Given the description of an element on the screen output the (x, y) to click on. 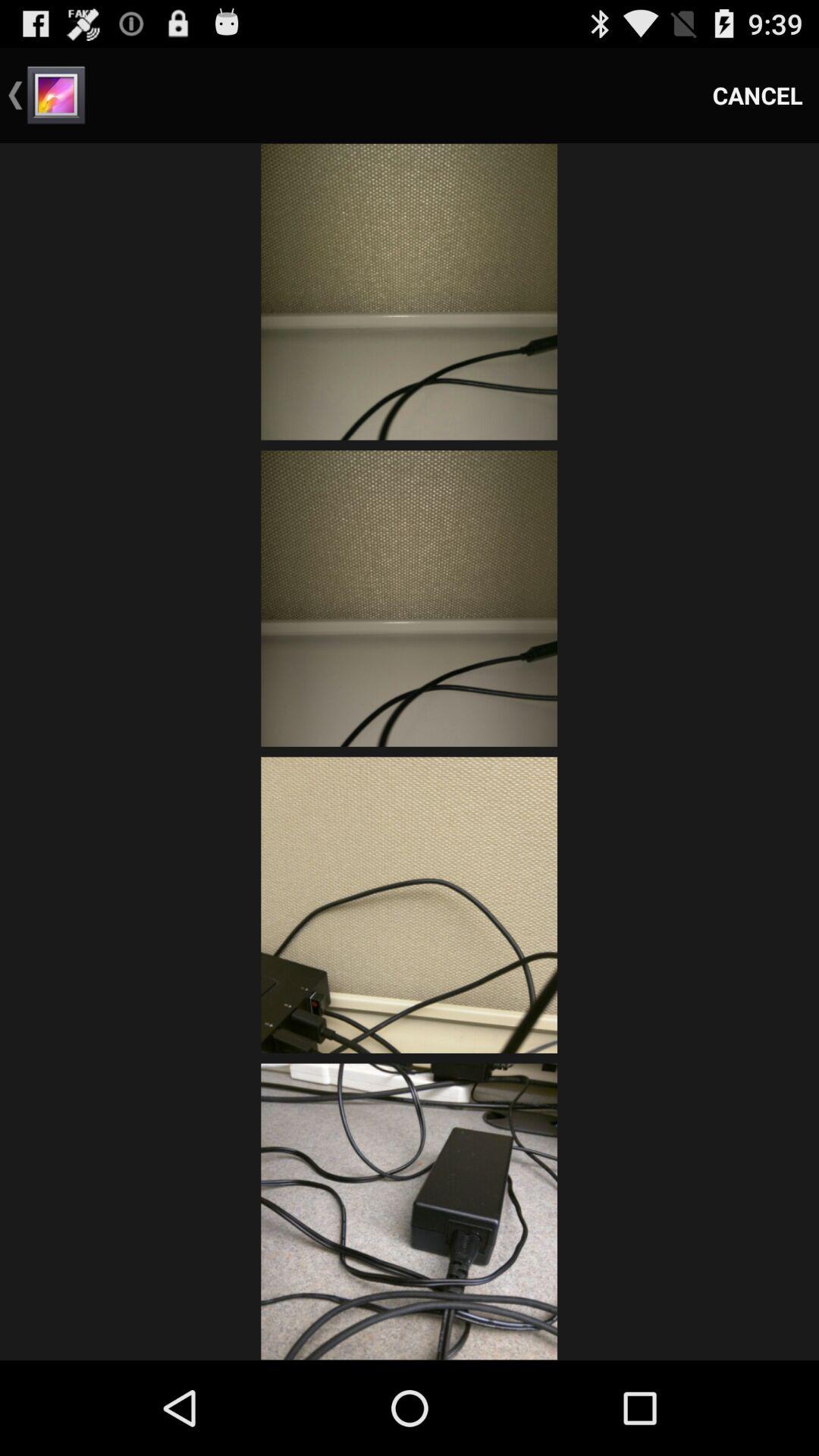
jump until the cancel item (757, 95)
